Given the description of an element on the screen output the (x, y) to click on. 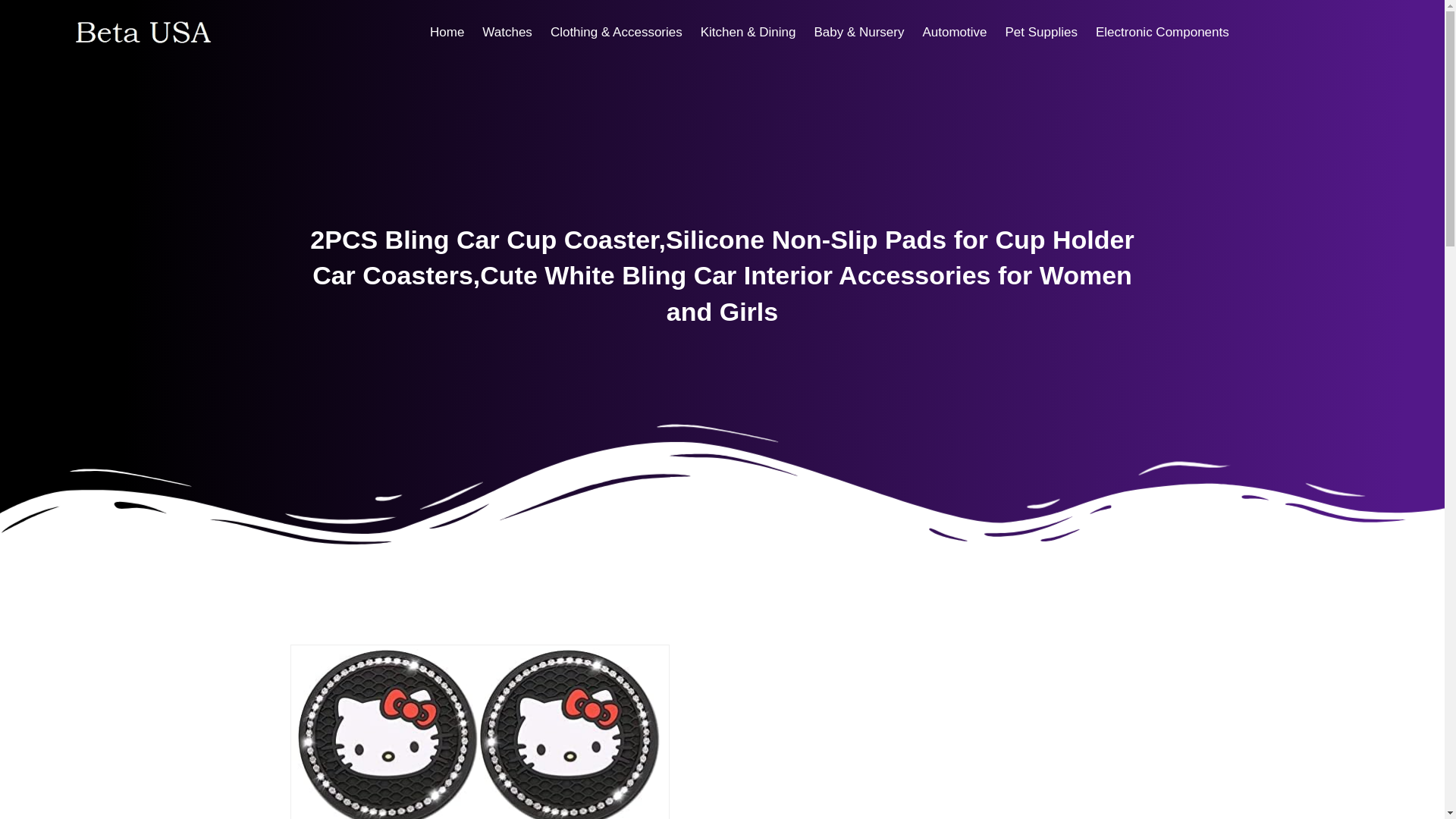
Electronic Components (1162, 32)
Pet Supplies (1040, 32)
Automotive (953, 32)
Watches (507, 32)
Home (446, 32)
